Given the description of an element on the screen output the (x, y) to click on. 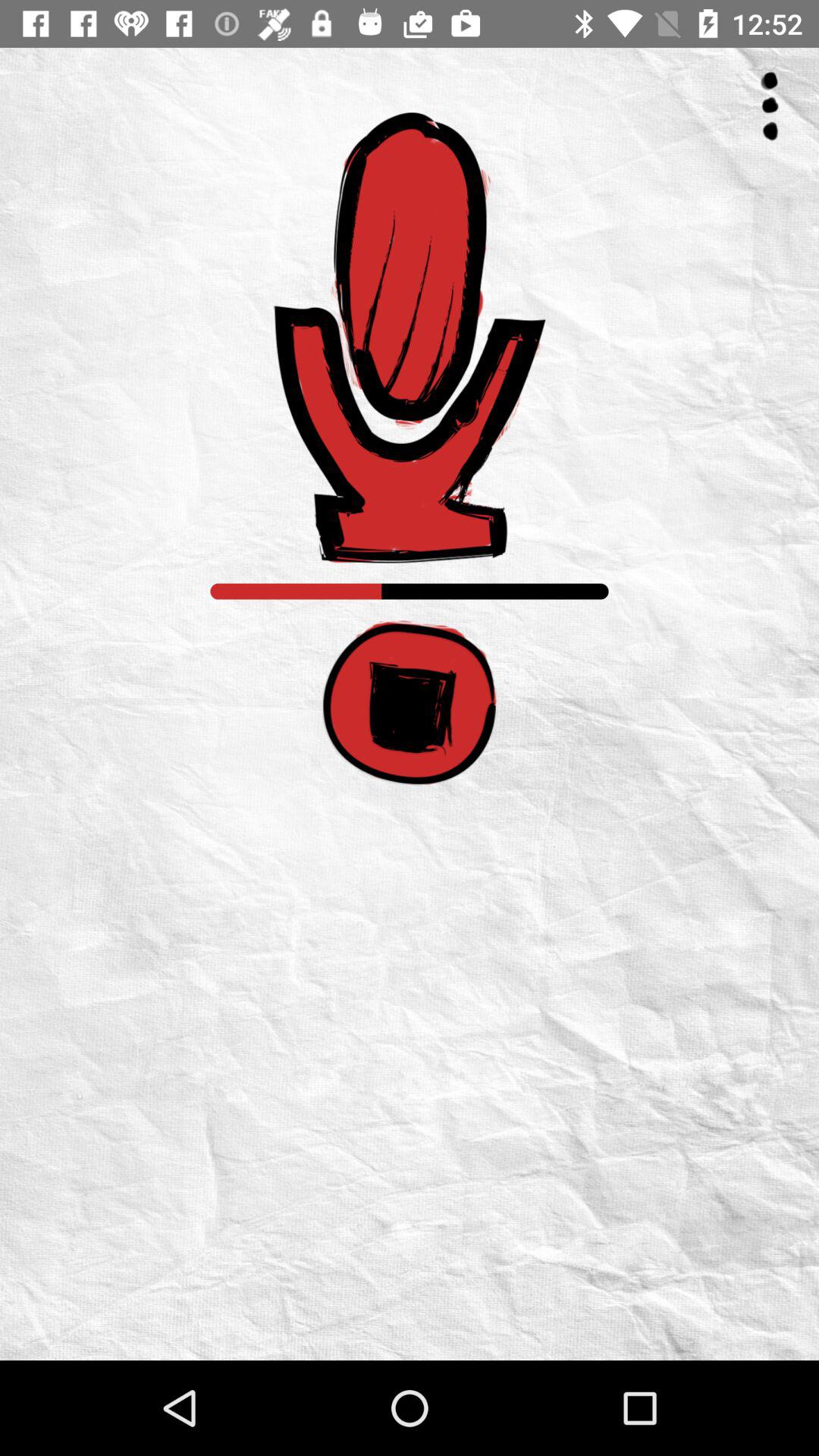
tap the icon at the top right corner (769, 106)
